Given the description of an element on the screen output the (x, y) to click on. 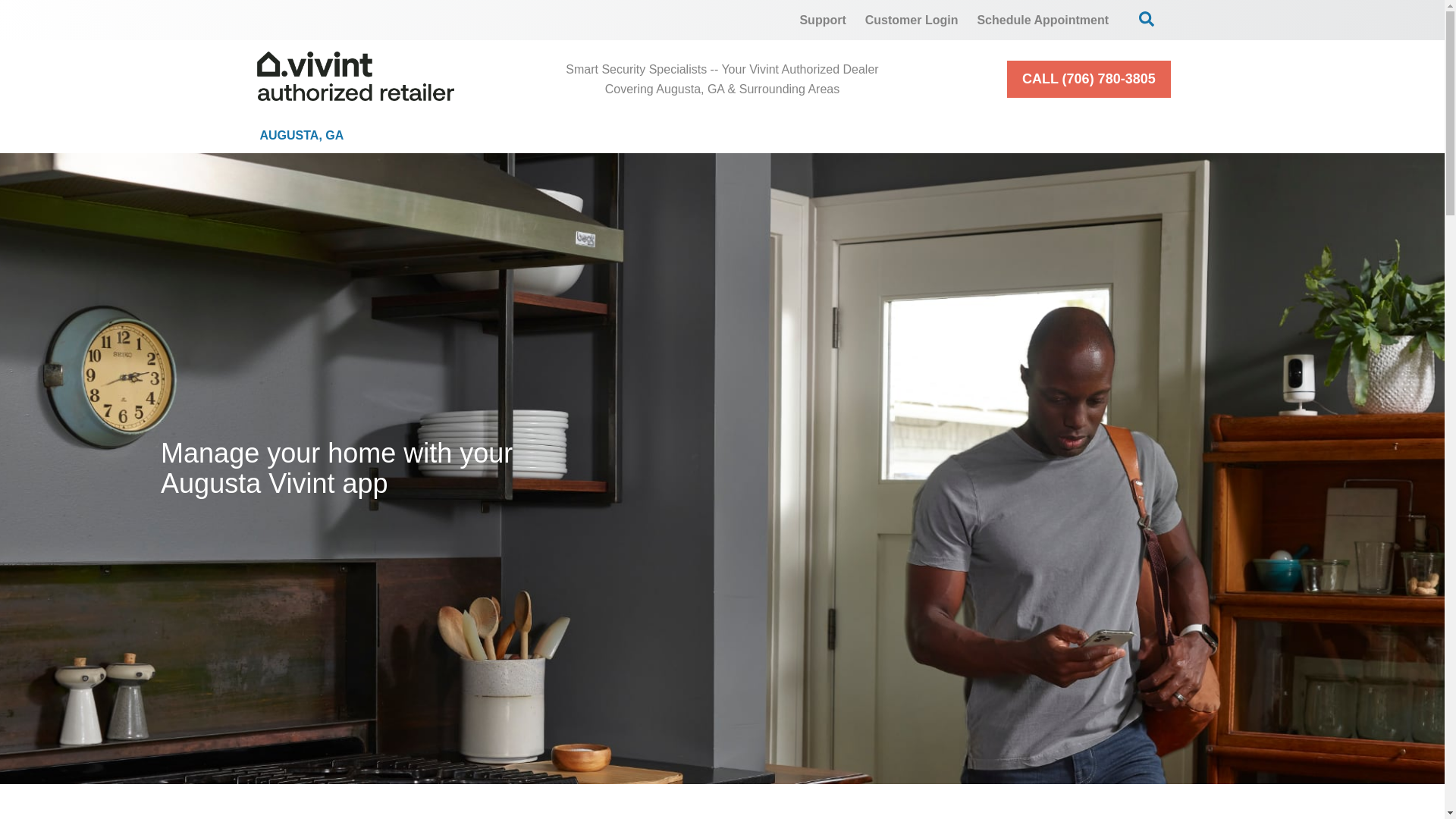
Home Security (484, 135)
Customer Login (911, 20)
Support (822, 20)
Open Search (1146, 18)
Cameras (659, 135)
Smart Home Automation (863, 135)
Schedule Appointment (1042, 20)
